Given the description of an element on the screen output the (x, y) to click on. 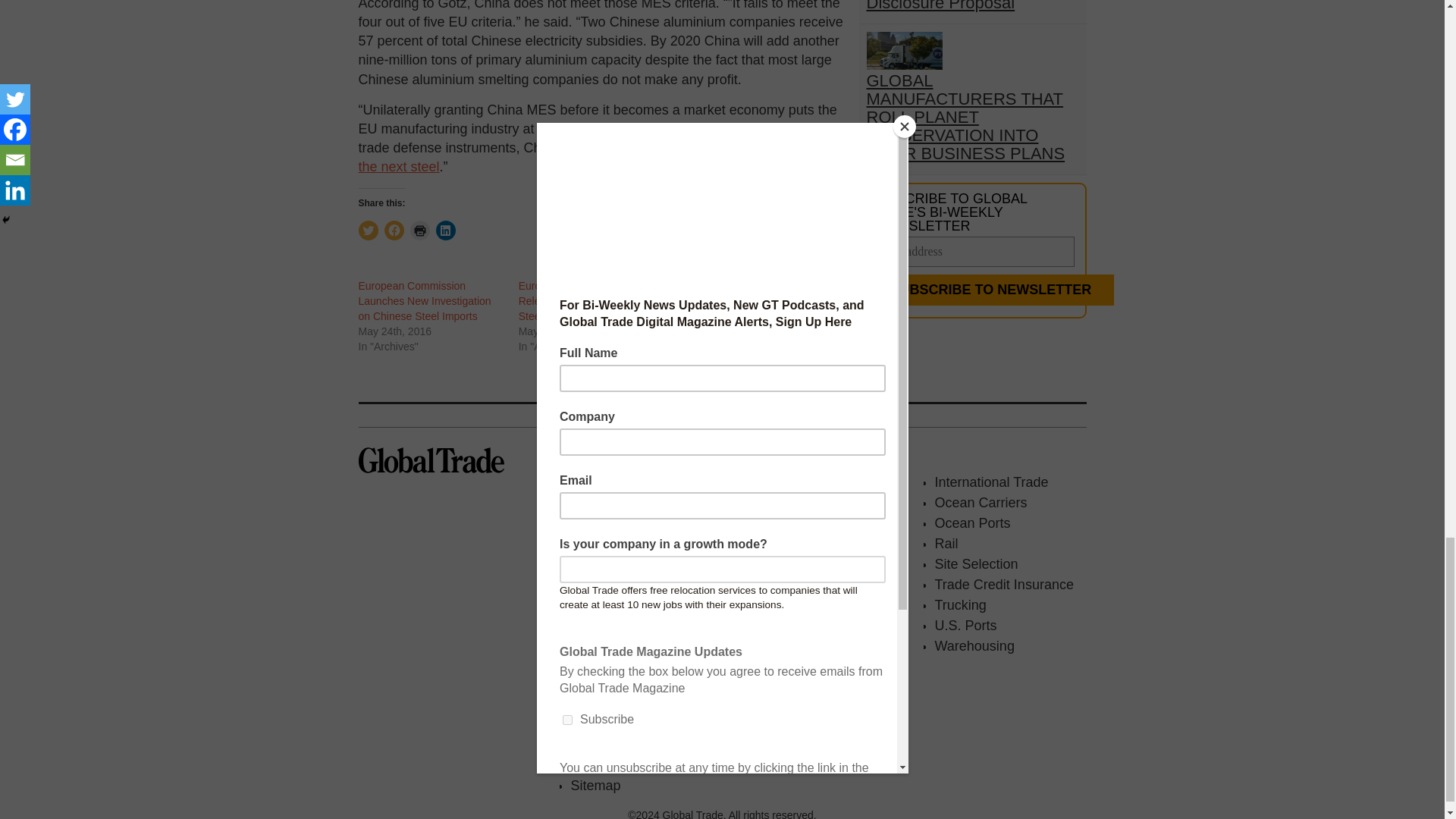
Click to share on Twitter (367, 230)
Click to share on Facebook (393, 230)
European Commission Releases Policy Proposals on Steel (588, 301)
Click to print (419, 230)
Subscribe to Newsletter (990, 289)
European Commission Launches New Anti-Dumping Investigations (746, 301)
Click to share on LinkedIn (444, 230)
